Given the description of an element on the screen output the (x, y) to click on. 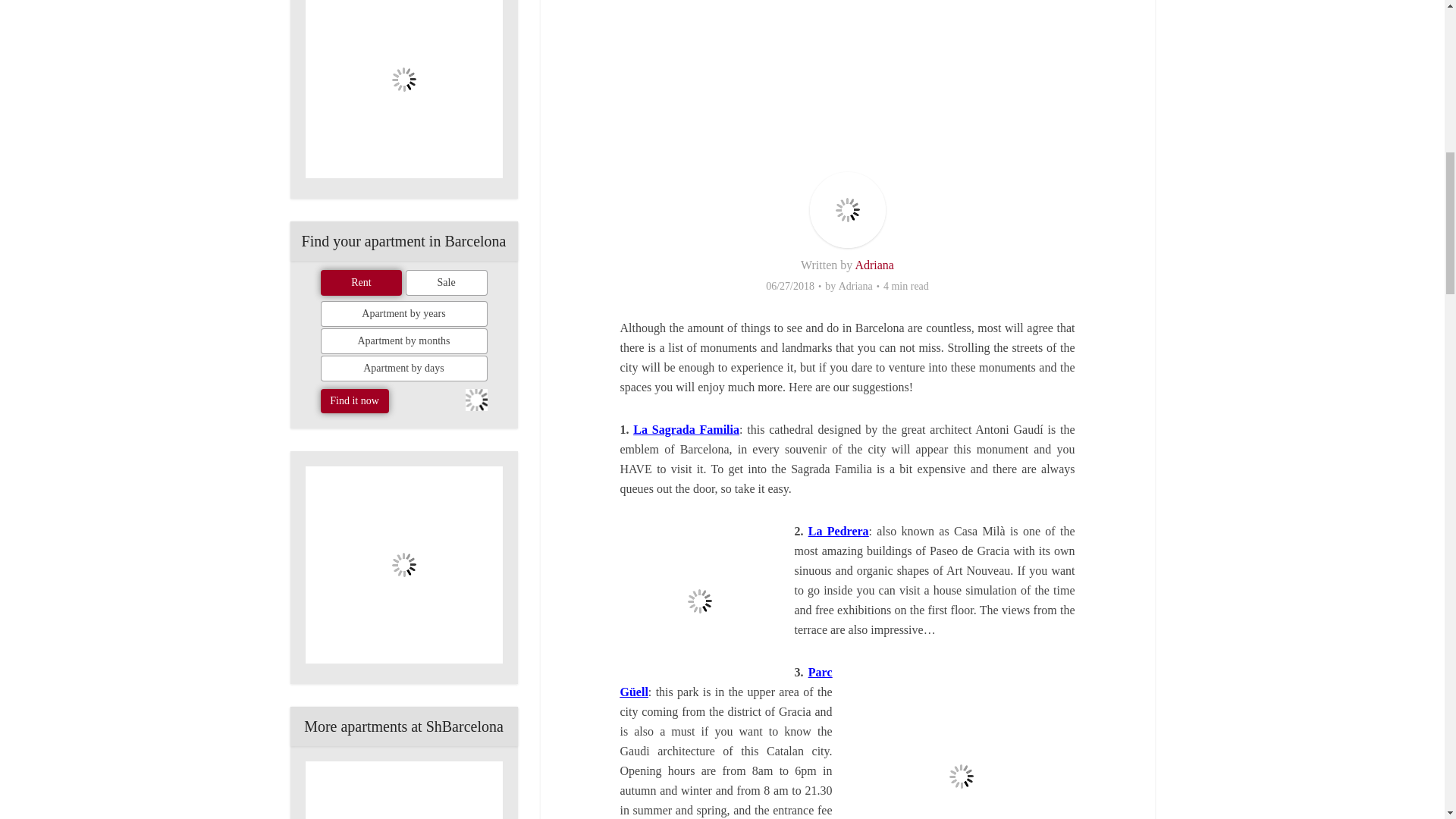
Prices and Cost of Living in Barcelona (403, 564)
Apartment by years (403, 313)
Rent (360, 282)
Sale (446, 282)
Barcelona City Pass (403, 89)
Apartment by months (403, 340)
Rent a flat in Barcelona (403, 790)
